Given the description of an element on the screen output the (x, y) to click on. 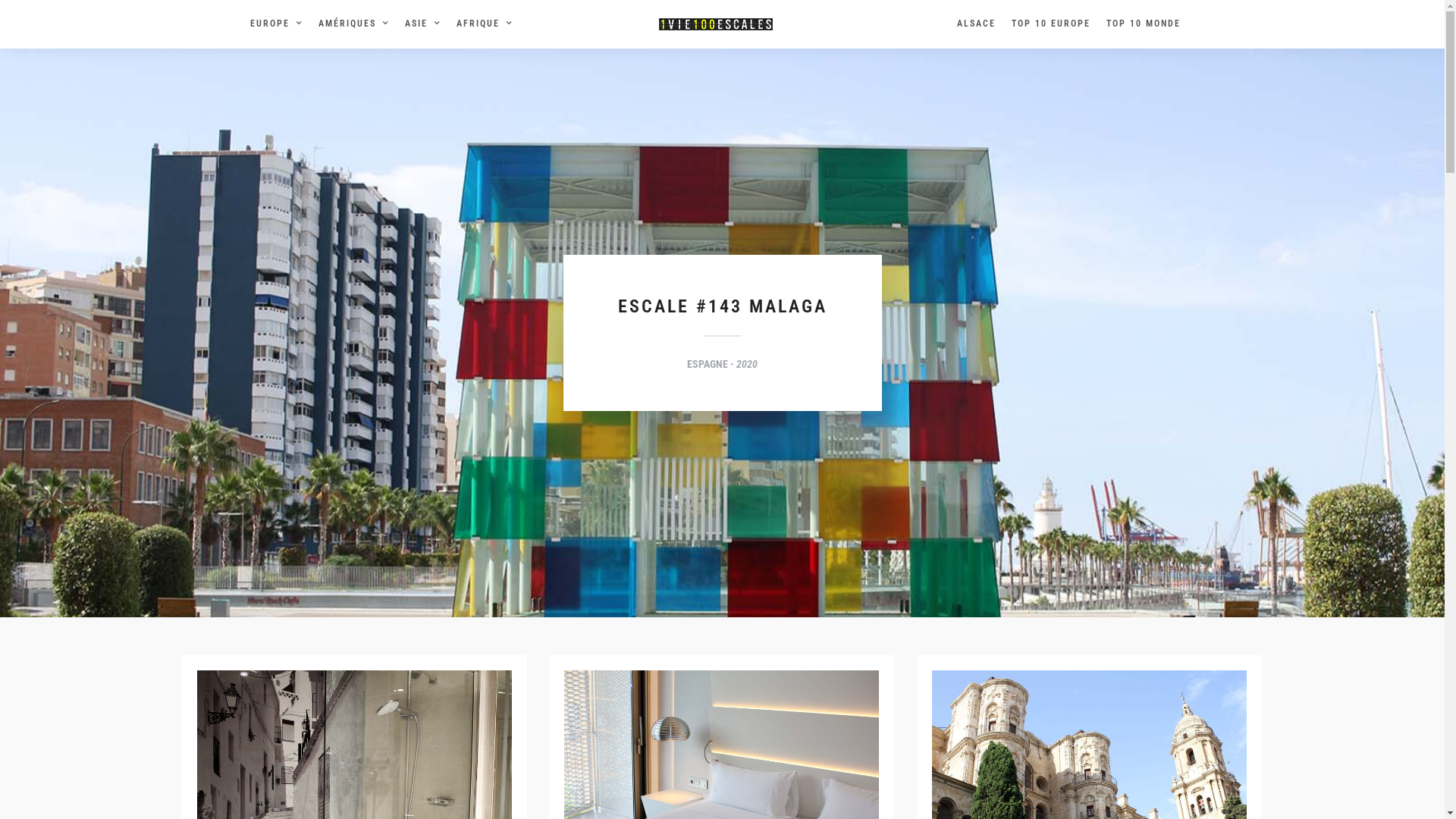
TOP 10 MONDE Element type: text (1148, 23)
ALSACE Element type: text (981, 23)
ASIE Element type: text (427, 23)
TOP 10 EUROPE Element type: text (1055, 23)
AFRIQUE Element type: text (489, 23)
EUROPE Element type: text (281, 23)
